Given the description of an element on the screen output the (x, y) to click on. 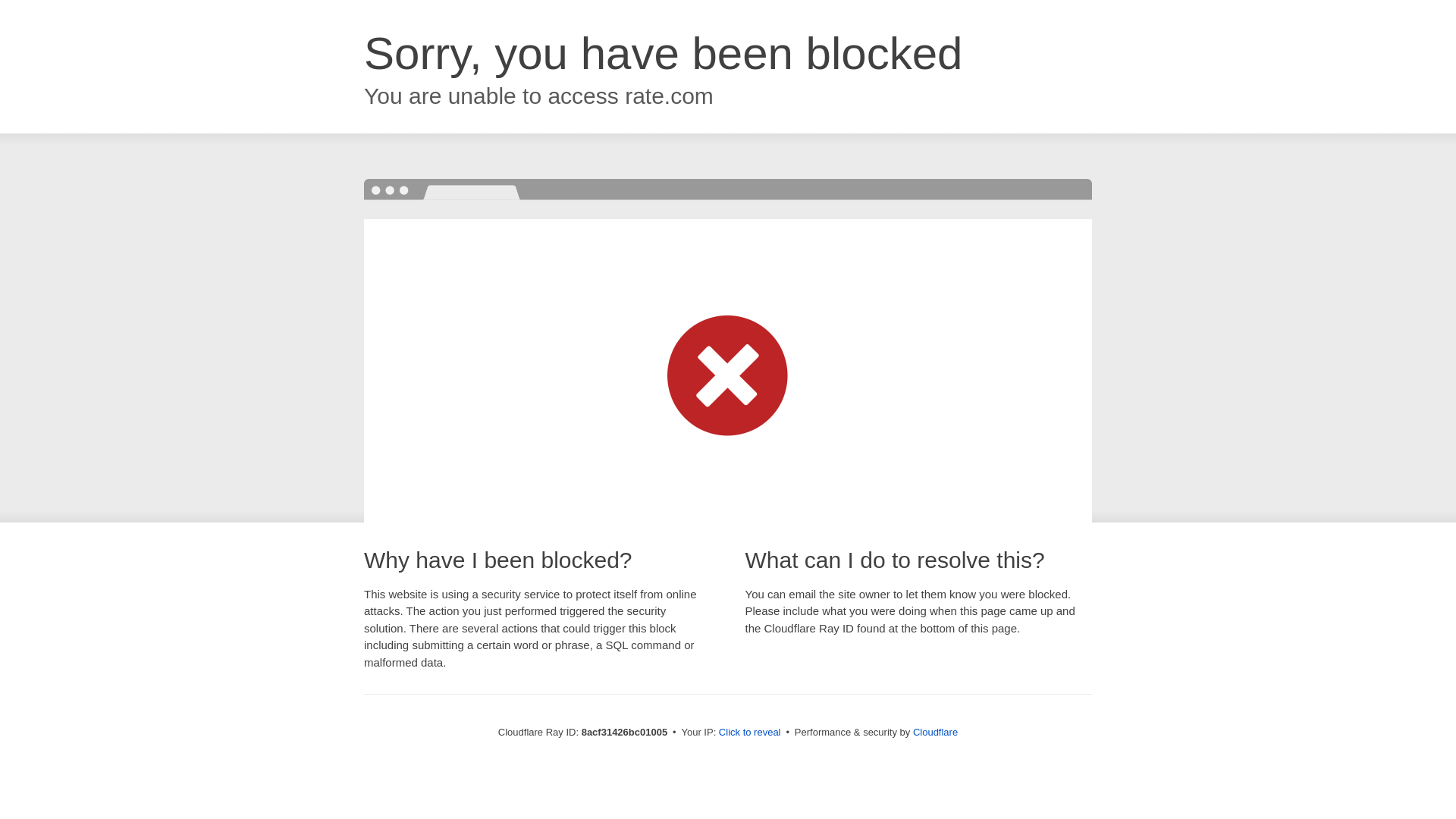
Click to reveal (749, 732)
Cloudflare (935, 731)
